Given the description of an element on the screen output the (x, y) to click on. 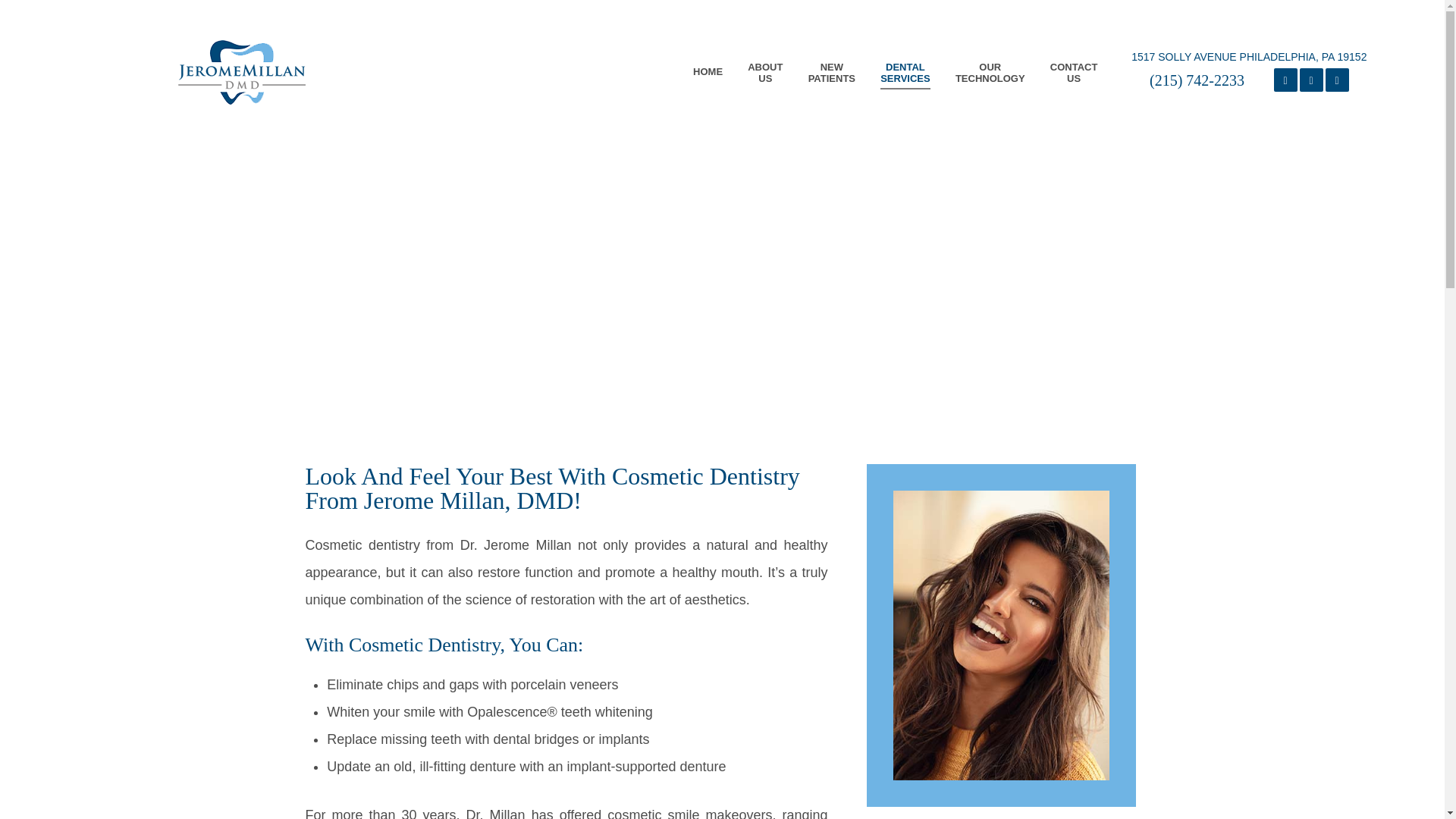
PREVENTIVE CARE (990, 85)
COMMON PROCEDURES (718, 278)
1517 SOLLY AVENUE PHILADELPHIA, PA 19152 (1073, 85)
